Given the description of an element on the screen output the (x, y) to click on. 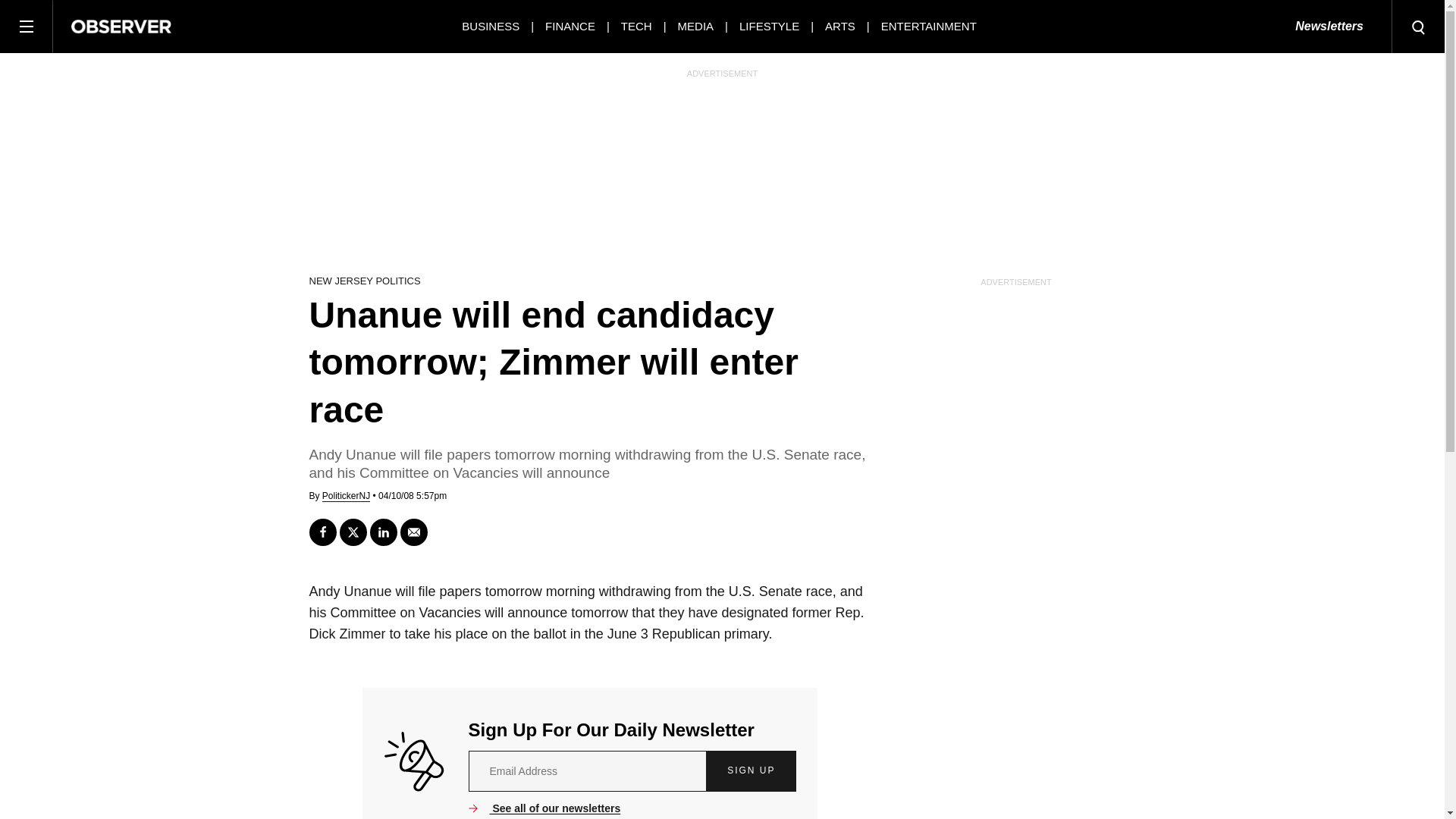
Observer (121, 26)
BUSINESS (490, 25)
View All Posts by PolitickerNJ (345, 496)
Tweet (352, 532)
FINANCE (569, 25)
Share on Facebook (322, 532)
ENTERTAINMENT (928, 25)
ARTS (840, 25)
LIFESTYLE (769, 25)
Share on LinkedIn (383, 532)
